Given the description of an element on the screen output the (x, y) to click on. 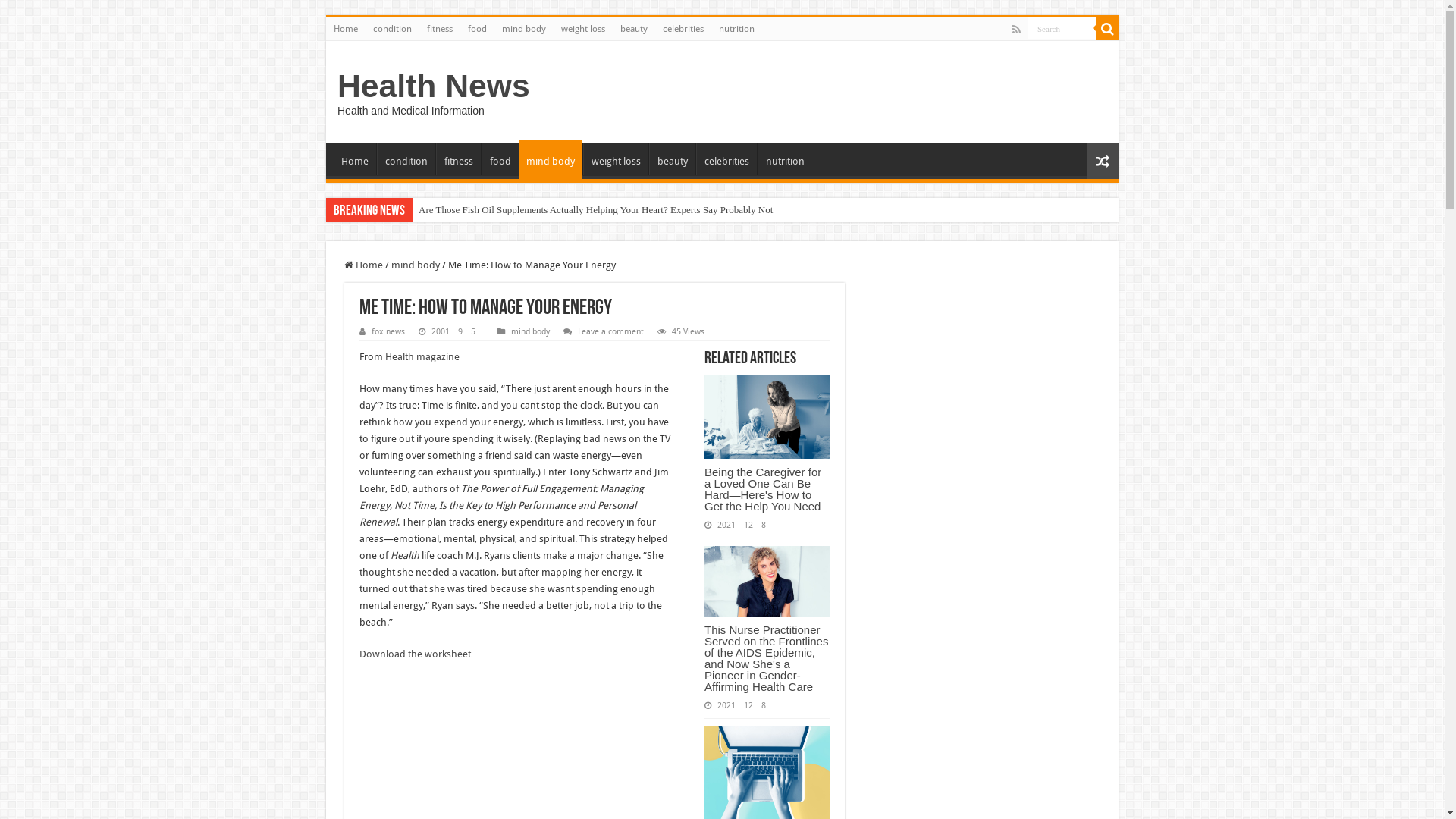
Health News Element type: text (433, 85)
mind body Element type: text (530, 331)
Home Element type: text (354, 159)
mind body Element type: text (523, 28)
Search Element type: text (1106, 28)
nutrition Element type: text (784, 159)
Health magazine Element type: text (422, 356)
fitness Element type: text (439, 28)
celebrities Element type: text (726, 159)
fox news Element type: text (387, 331)
Download the worksheet Element type: text (414, 653)
celebrities Element type: text (683, 28)
Rss Element type: hover (1016, 29)
weight loss Element type: text (615, 159)
fitness Element type: text (458, 159)
Home Element type: text (345, 28)
condition Element type: text (405, 159)
nutrition Element type: text (736, 28)
Home Element type: text (363, 264)
food Element type: text (477, 28)
beauty Element type: text (672, 159)
Leave a comment Element type: text (610, 331)
mind body Element type: text (550, 158)
Search Element type: hover (1061, 28)
food Element type: text (499, 159)
weight loss Element type: text (582, 28)
beauty Element type: text (633, 28)
condition Element type: text (392, 28)
mind body Element type: text (415, 264)
